Given the description of an element on the screen output the (x, y) to click on. 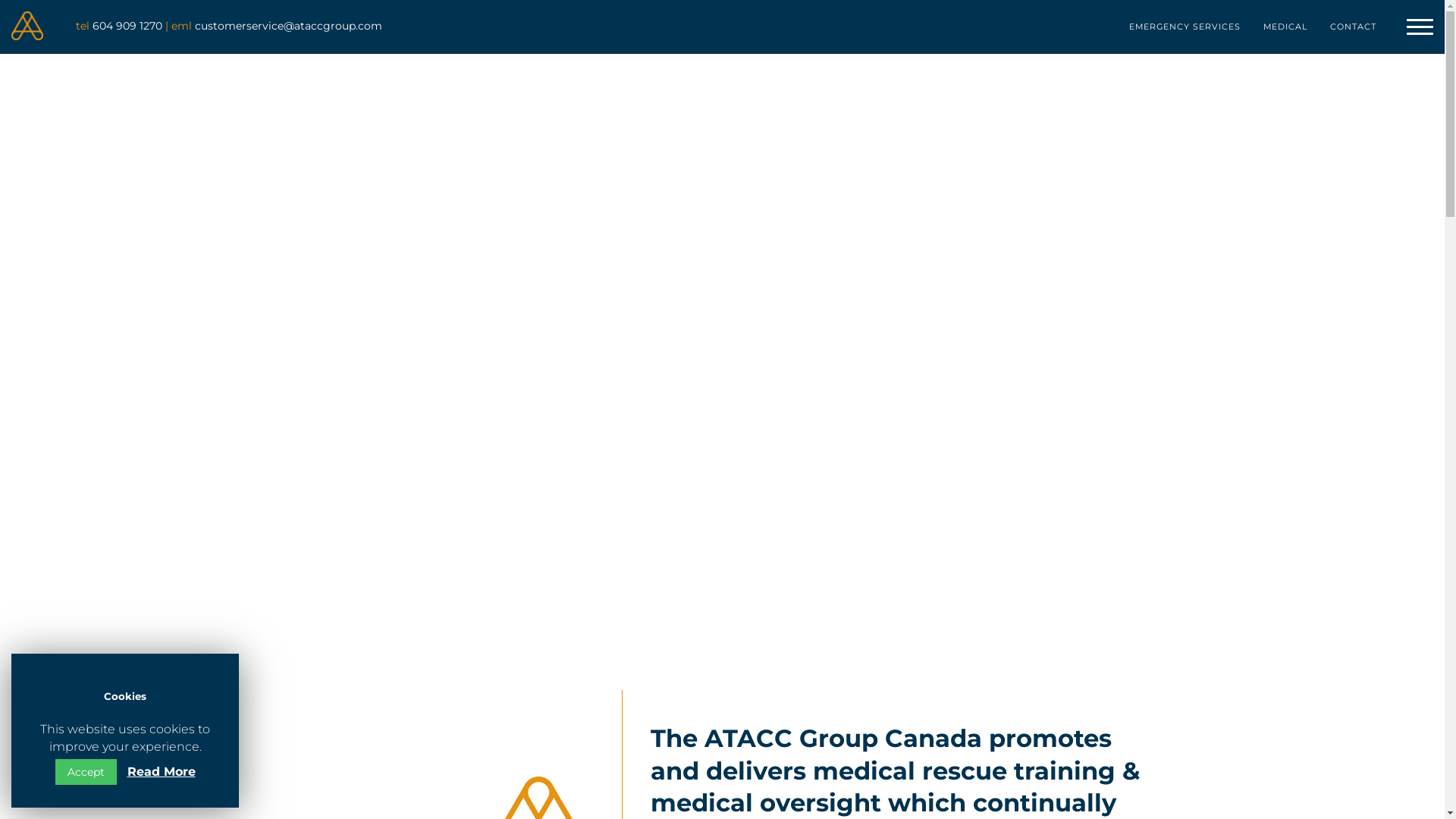
CONTACT Element type: text (1352, 26)
Accept Element type: text (85, 771)
customerservice@ataccgroup.com Element type: text (288, 25)
MEDICAL Element type: text (1285, 26)
EMERGENCY SERVICES Element type: text (1184, 26)
Read More Element type: text (161, 771)
